Given the description of an element on the screen output the (x, y) to click on. 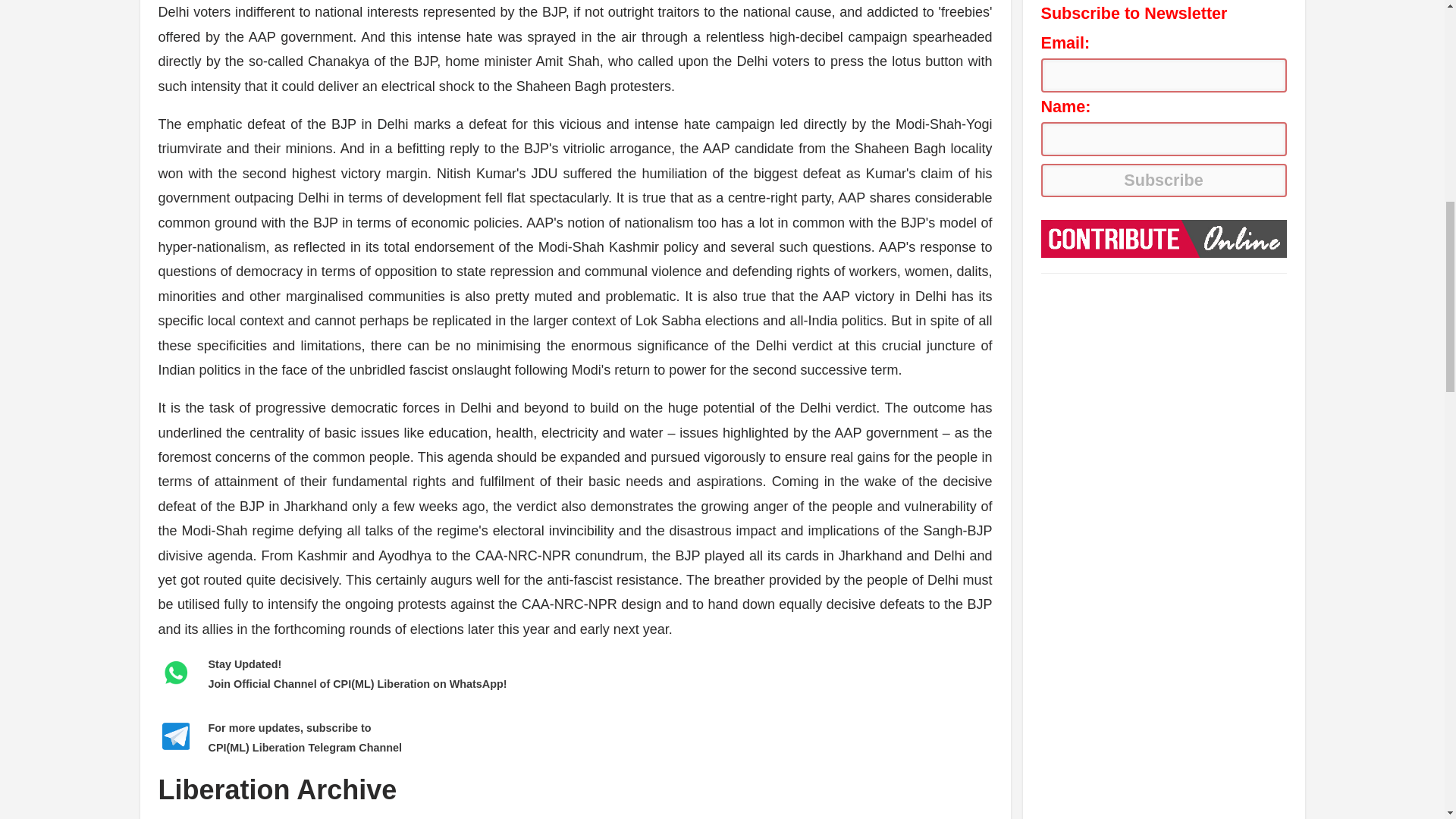
Subscribe (1163, 180)
